Given the description of an element on the screen output the (x, y) to click on. 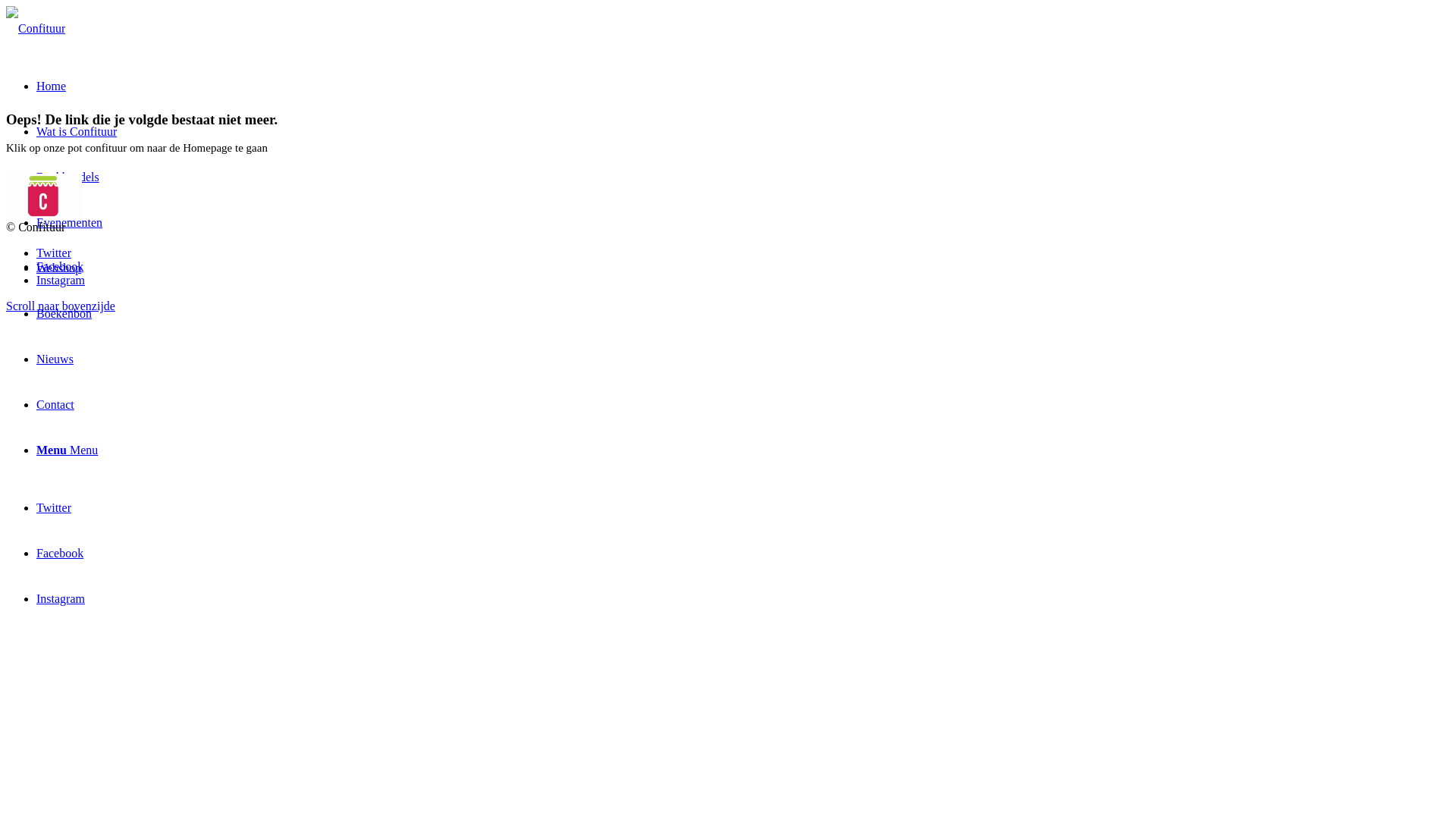
Evenementen Element type: text (69, 222)
Webshop Element type: text (58, 267)
Twitter Element type: text (53, 507)
Boekhandels Element type: text (67, 176)
Facebook Element type: text (59, 266)
Facebook Element type: text (59, 552)
Instagram Element type: text (60, 279)
Boekenbon Element type: text (63, 313)
Twitter Element type: text (53, 252)
potconfituur-300x173 Element type: hover (43, 195)
Home Element type: text (50, 85)
Nieuws Element type: text (54, 358)
Contact Element type: text (55, 404)
Menu Menu Element type: text (66, 449)
Scroll naar bovenzijde Element type: text (60, 305)
Instagram Element type: text (60, 598)
Wat is Confituur Element type: text (76, 131)
